Given the description of an element on the screen output the (x, y) to click on. 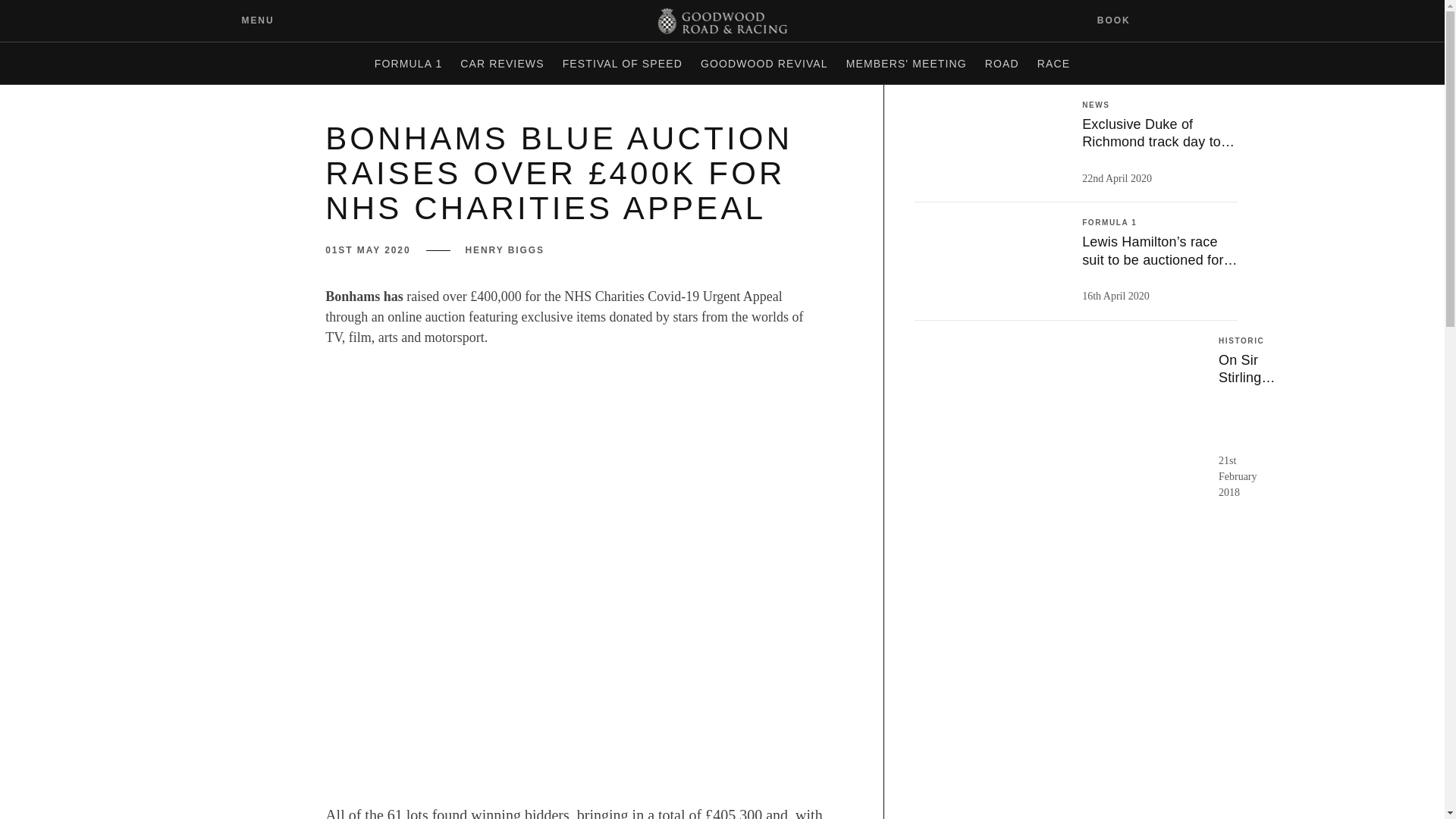
ROAD (1001, 63)
BOOK (1122, 20)
MENU (246, 20)
FORMULA 1 (408, 63)
MEMBERS' MEETING (906, 63)
CAR REVIEWS (502, 63)
FESTIVAL OF SPEED (622, 63)
GOODWOOD REVIVAL (764, 63)
RACE (1053, 63)
